Given the description of an element on the screen output the (x, y) to click on. 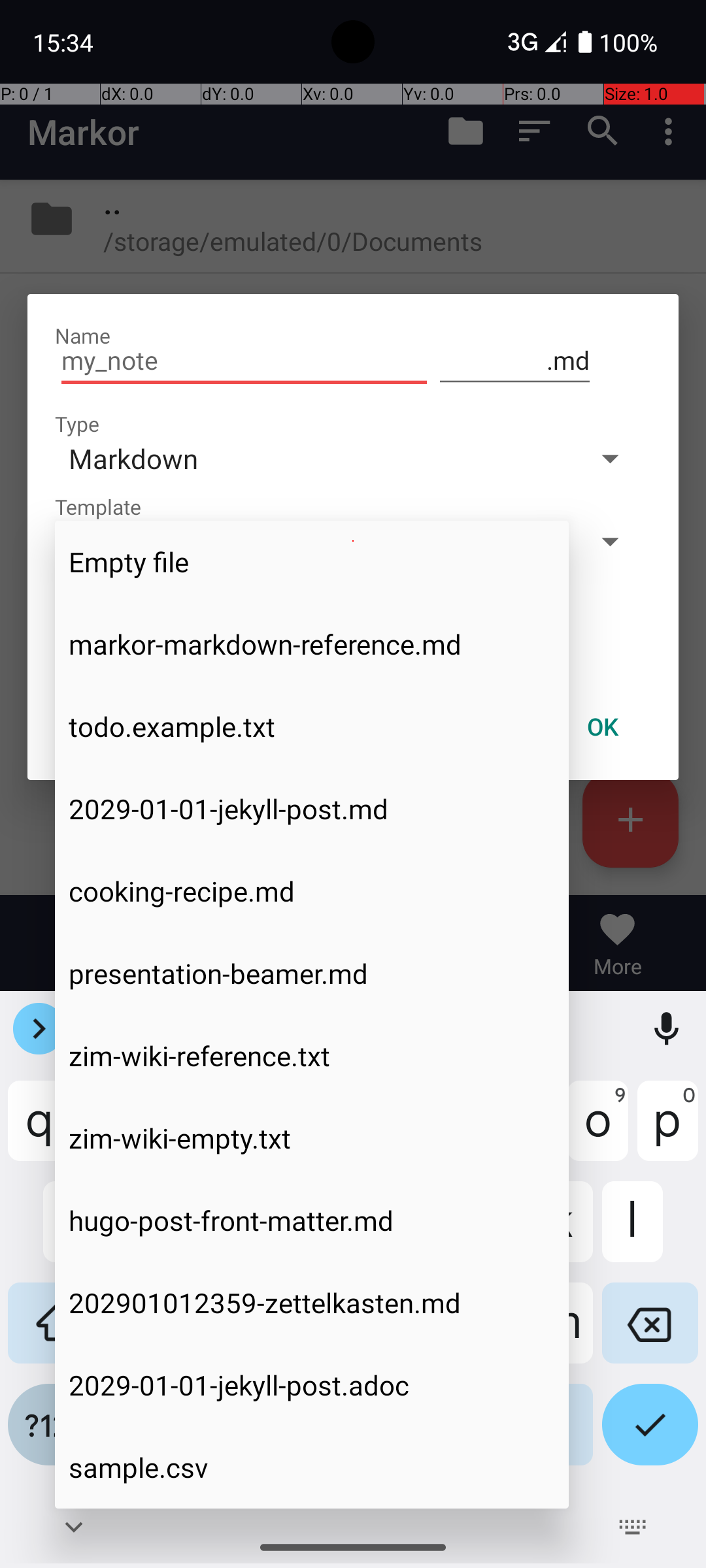
Empty file Element type: android.widget.CheckedTextView (311, 561)
markor-markdown-reference.md Element type: android.widget.CheckedTextView (311, 644)
todo.example.txt Element type: android.widget.CheckedTextView (311, 726)
2029-01-01-jekyll-post.md Element type: android.widget.CheckedTextView (311, 808)
cooking-recipe.md Element type: android.widget.CheckedTextView (311, 890)
presentation-beamer.md Element type: android.widget.CheckedTextView (311, 973)
zim-wiki-reference.txt Element type: android.widget.CheckedTextView (311, 1055)
zim-wiki-empty.txt Element type: android.widget.CheckedTextView (311, 1137)
hugo-post-front-matter.md Element type: android.widget.CheckedTextView (311, 1220)
202901012359-zettelkasten.md Element type: android.widget.CheckedTextView (311, 1302)
2029-01-01-jekyll-post.adoc Element type: android.widget.CheckedTextView (311, 1384)
sample.csv Element type: android.widget.CheckedTextView (311, 1467)
